Given the description of an element on the screen output the (x, y) to click on. 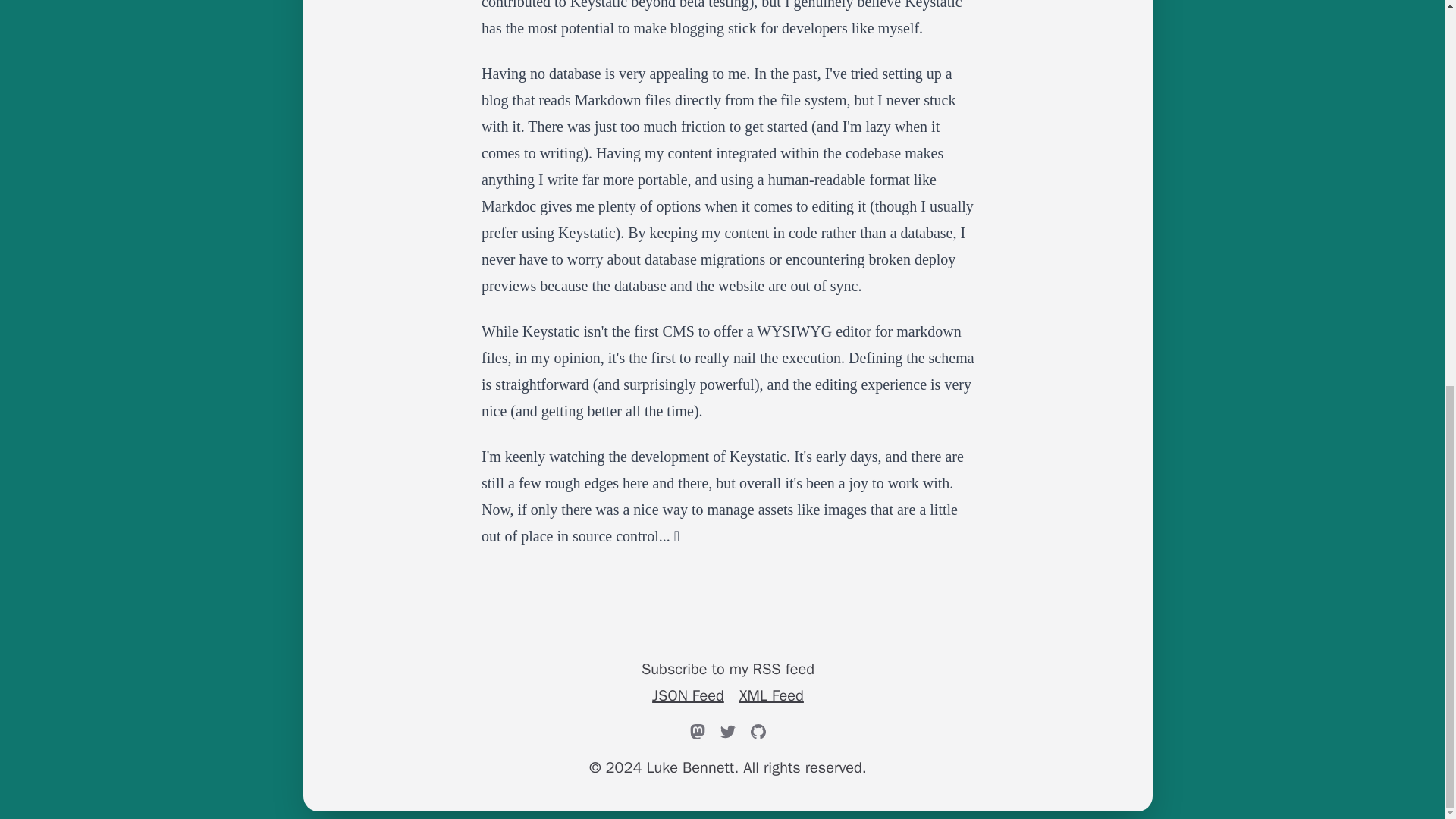
Twitter (727, 731)
JSON Feed (687, 695)
Mastodon (697, 731)
XML Feed (771, 695)
GitHub (758, 731)
